Given the description of an element on the screen output the (x, y) to click on. 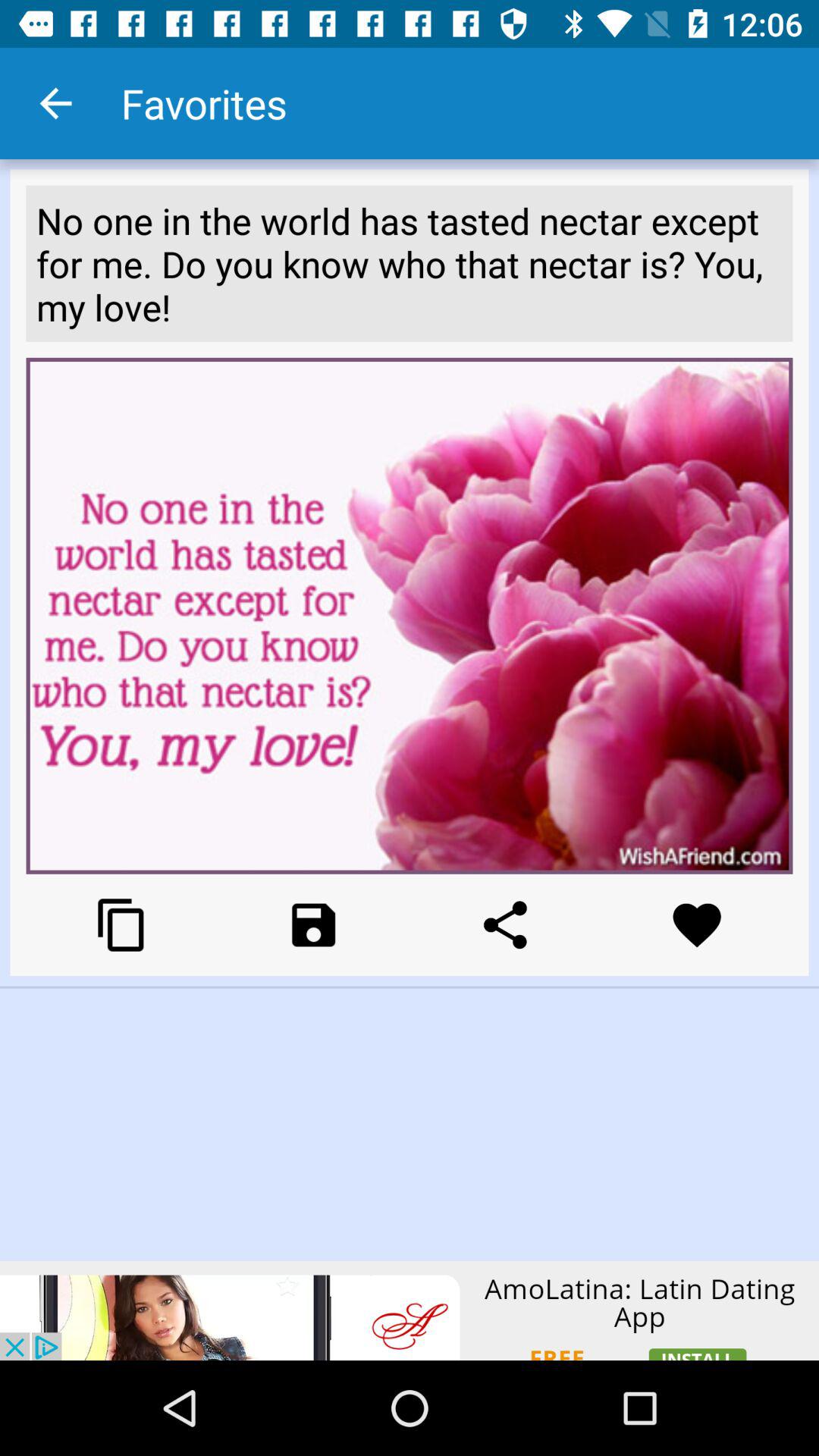
go to share (505, 925)
